Given the description of an element on the screen output the (x, y) to click on. 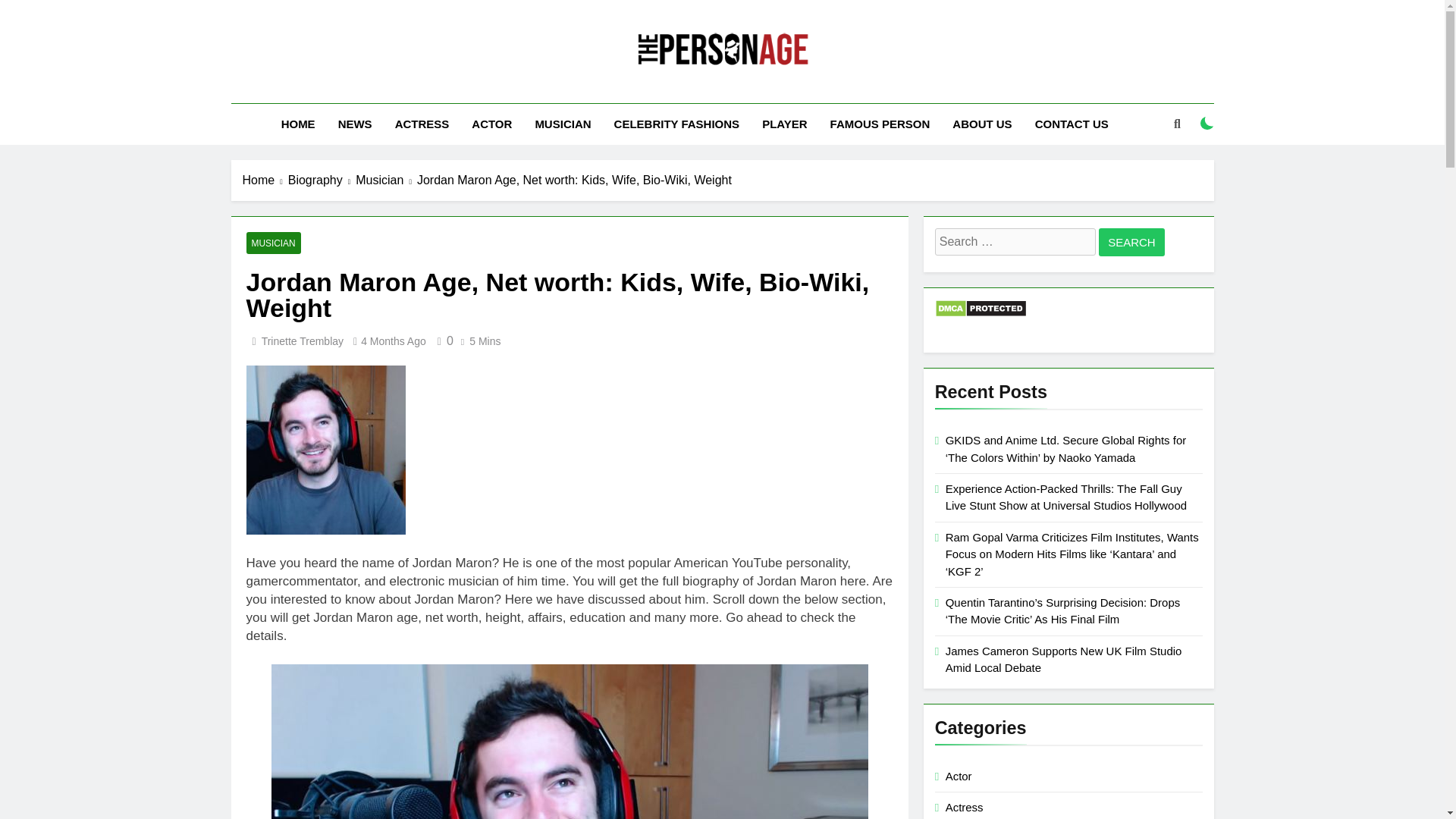
NEWS (355, 124)
DMCA.com Protection Status (980, 313)
ACTRESS (422, 124)
ACTOR (491, 124)
4 Months Ago (393, 340)
Home (265, 180)
Search (1131, 242)
FAMOUS PERSON (880, 124)
ABOUT US (981, 124)
Biography (322, 180)
on (1206, 123)
0 (442, 340)
CELEBRITY FASHIONS (676, 124)
HOME (297, 124)
Search (1131, 242)
